Given the description of an element on the screen output the (x, y) to click on. 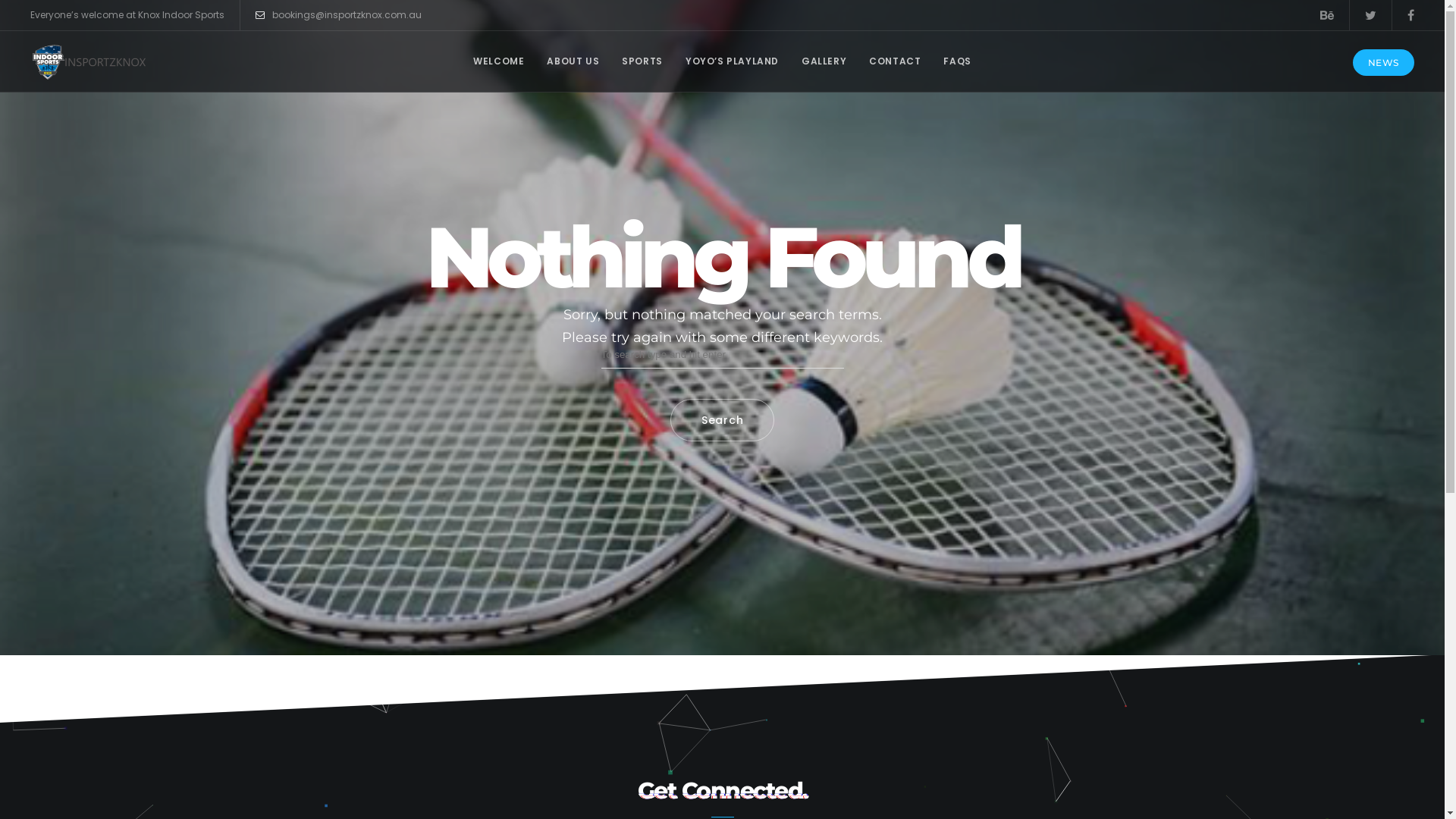
WELCOME Element type: text (498, 61)
CONTACT Element type: text (894, 61)
FAQS Element type: text (956, 61)
SPORTS Element type: text (641, 61)
bookings@insportzknox.com.au Element type: text (338, 15)
NEWS Element type: text (1383, 62)
GALLERY Element type: text (823, 61)
Search for: Element type: hover (721, 358)
ABOUT US Element type: text (572, 61)
Search Element type: text (722, 419)
